Given the description of an element on the screen output the (x, y) to click on. 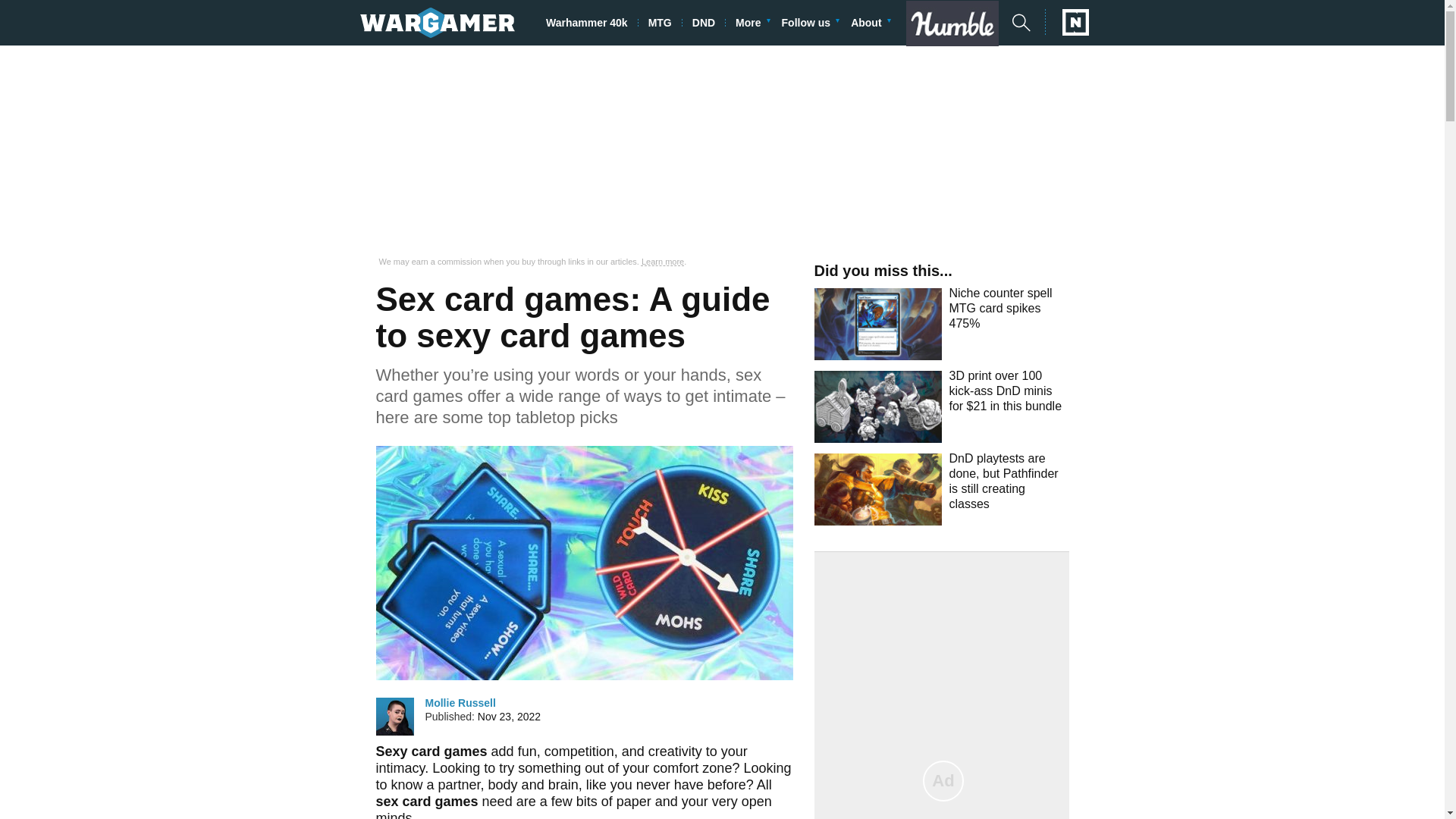
Mollie Russell (460, 702)
Learn more (663, 261)
Network N Media (1067, 22)
Sex card games: A guide to sexy card games (584, 562)
Wargamer (437, 22)
Mollie Russell (394, 716)
Follow us (810, 22)
Humble Bundle partnership (957, 22)
Warhammer 40k (591, 22)
